Given the description of an element on the screen output the (x, y) to click on. 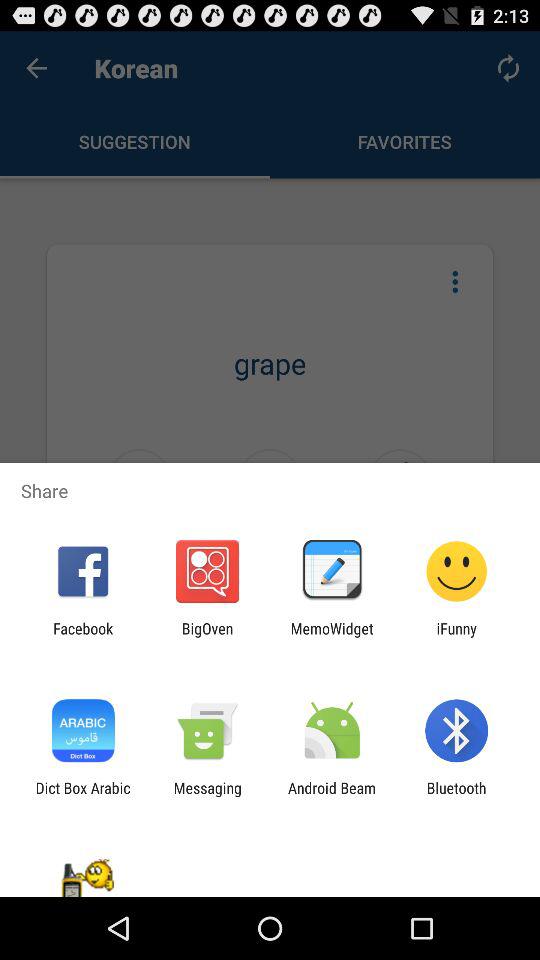
turn on the memowidget item (331, 637)
